Given the description of an element on the screen output the (x, y) to click on. 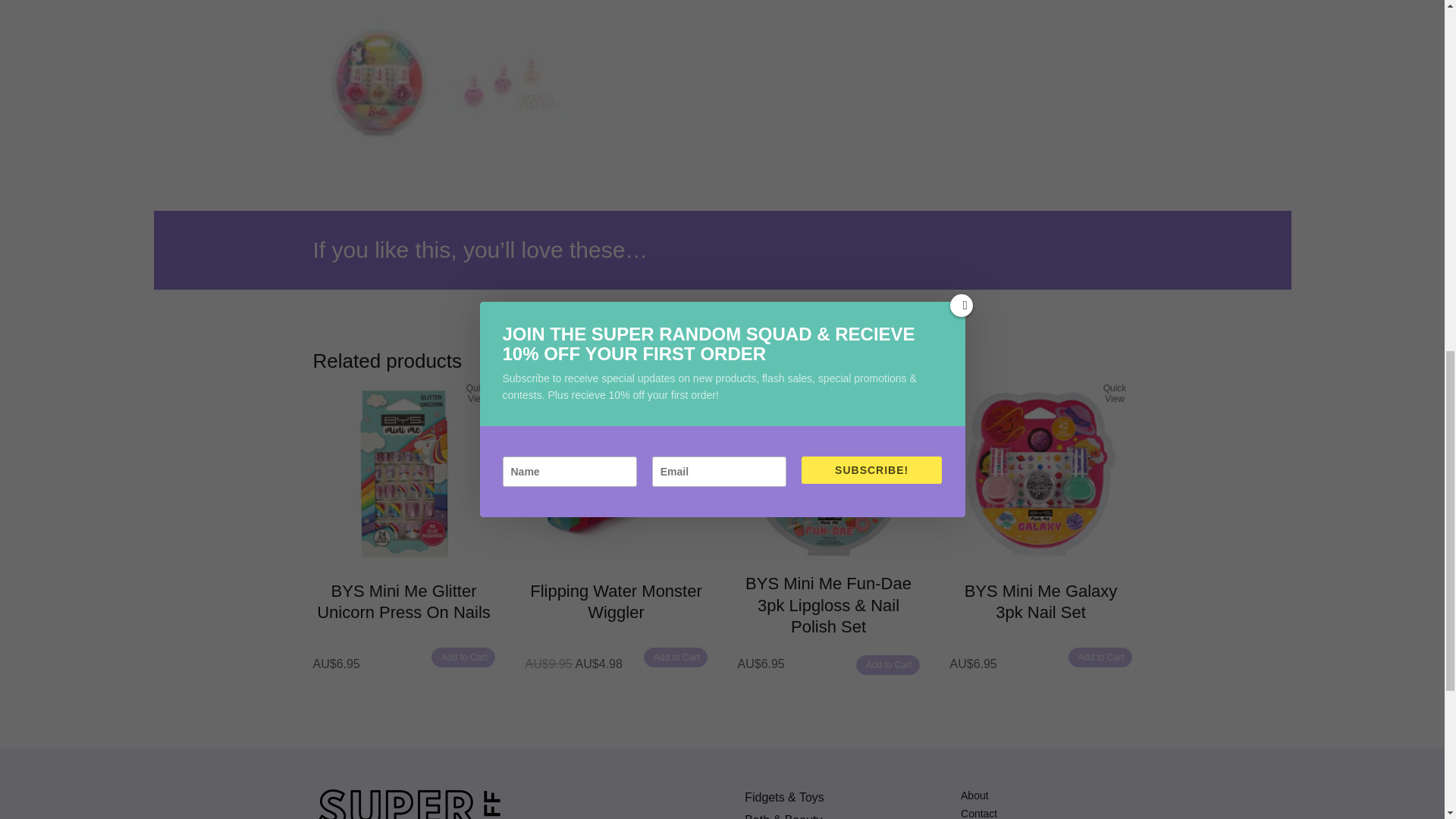
Quick view (902, 395)
Quick view (1114, 395)
Quick view (478, 395)
Quick view (689, 395)
Super-Random-Stuff-Header (407, 804)
